Given the description of an element on the screen output the (x, y) to click on. 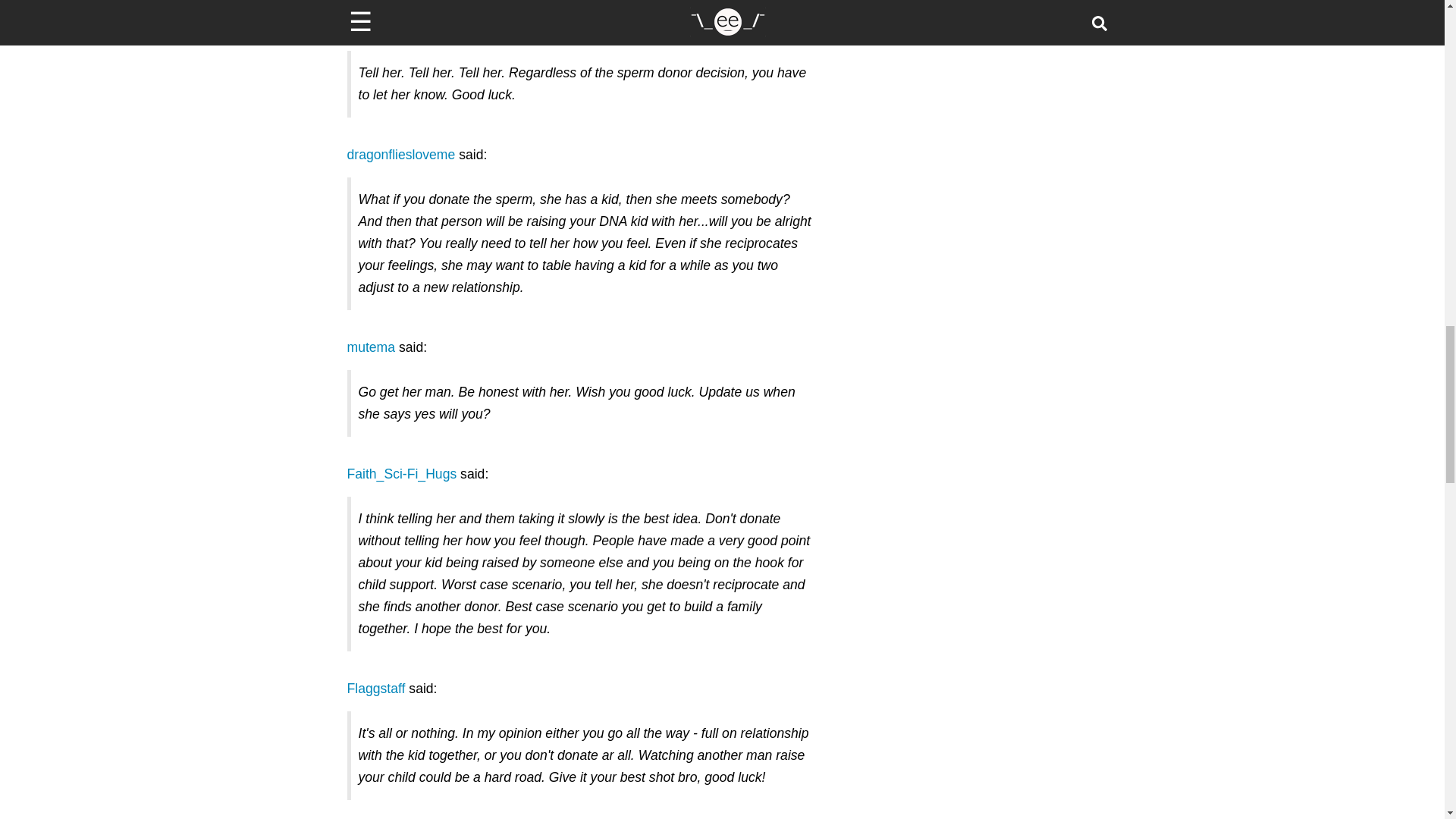
mutema (371, 346)
dragonfliesloveme (401, 154)
Flaggstaff (376, 688)
grayghoster (382, 28)
